Given the description of an element on the screen output the (x, y) to click on. 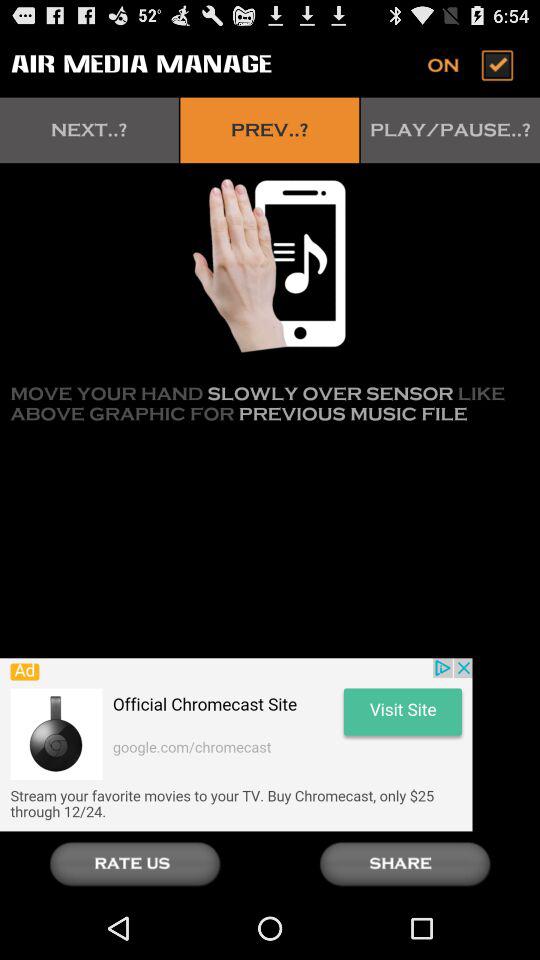
toggle air media manage (472, 64)
